Given the description of an element on the screen output the (x, y) to click on. 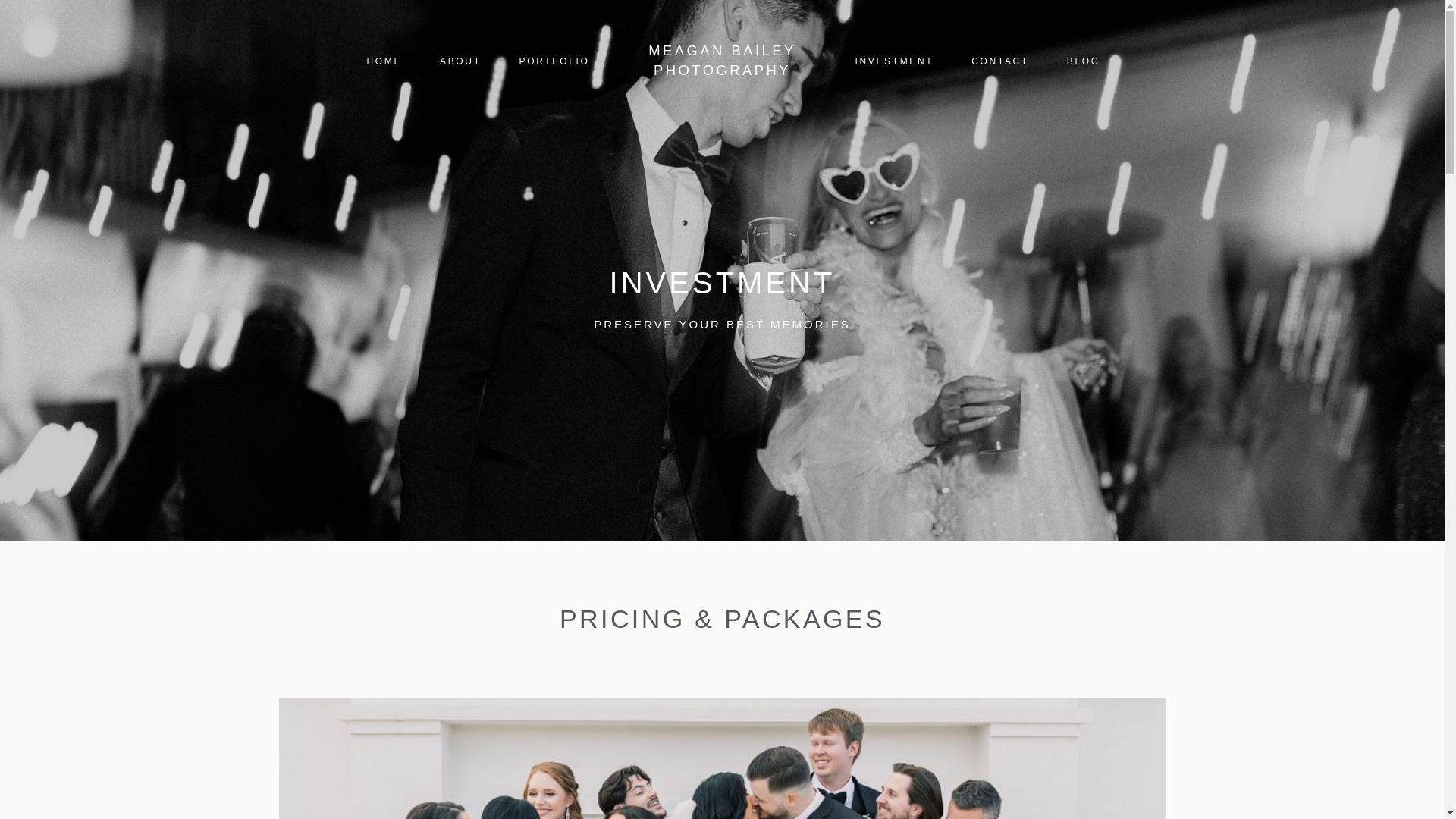
BLOG (1083, 61)
PORTFOLIO (554, 61)
MEAGAN BAILEY PHOTOGRAPHY (722, 60)
INVESTMENT (893, 61)
HOME (383, 61)
ABOUT (460, 61)
CONTACT (1000, 61)
